Given the description of an element on the screen output the (x, y) to click on. 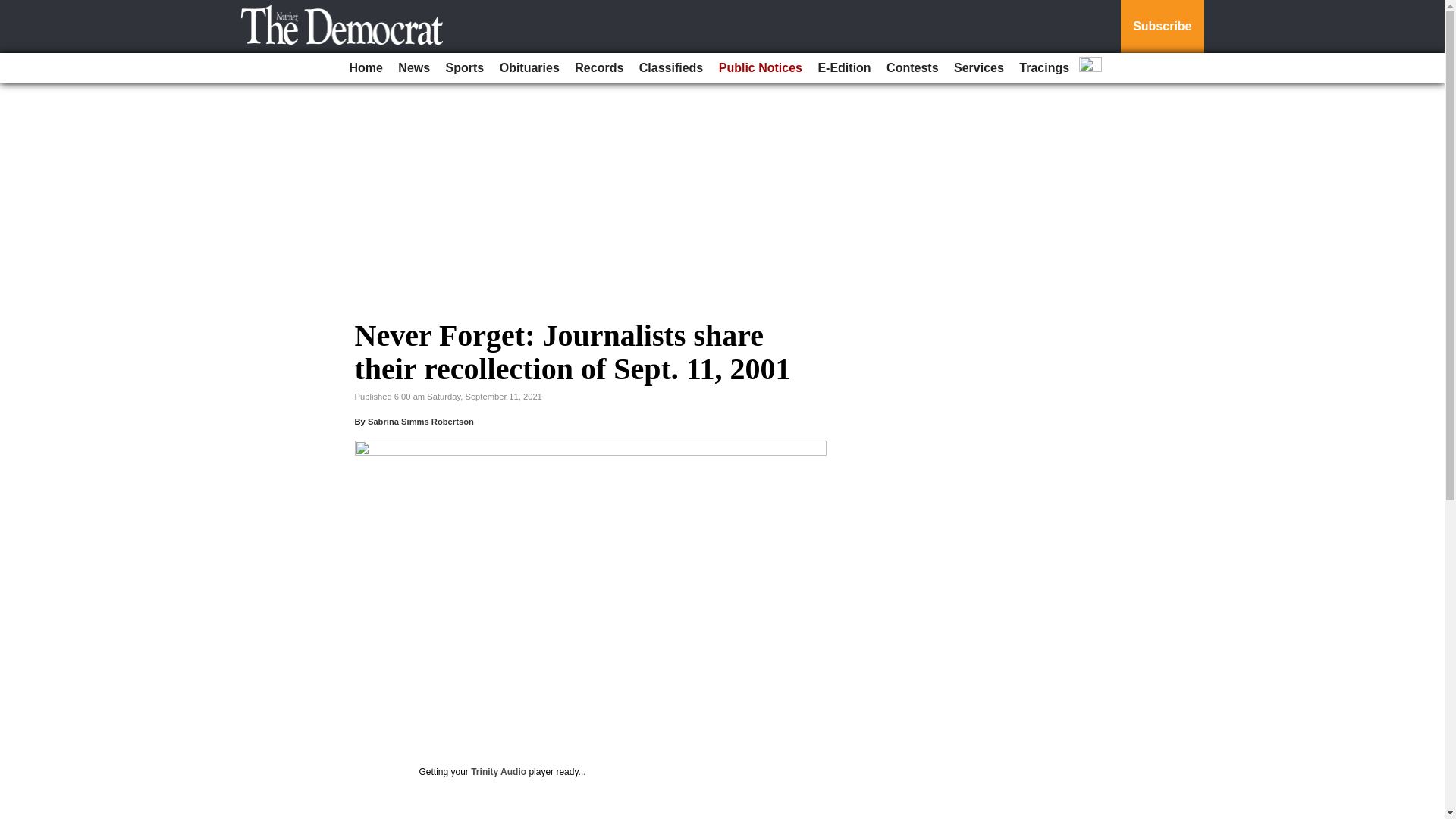
Services (978, 68)
Trinity Audio (497, 771)
Records (598, 68)
Obituaries (529, 68)
Home (365, 68)
Sports (464, 68)
Sabrina Simms Robertson (421, 420)
Tracings (1044, 68)
Classifieds (671, 68)
E-Edition (843, 68)
